Given the description of an element on the screen output the (x, y) to click on. 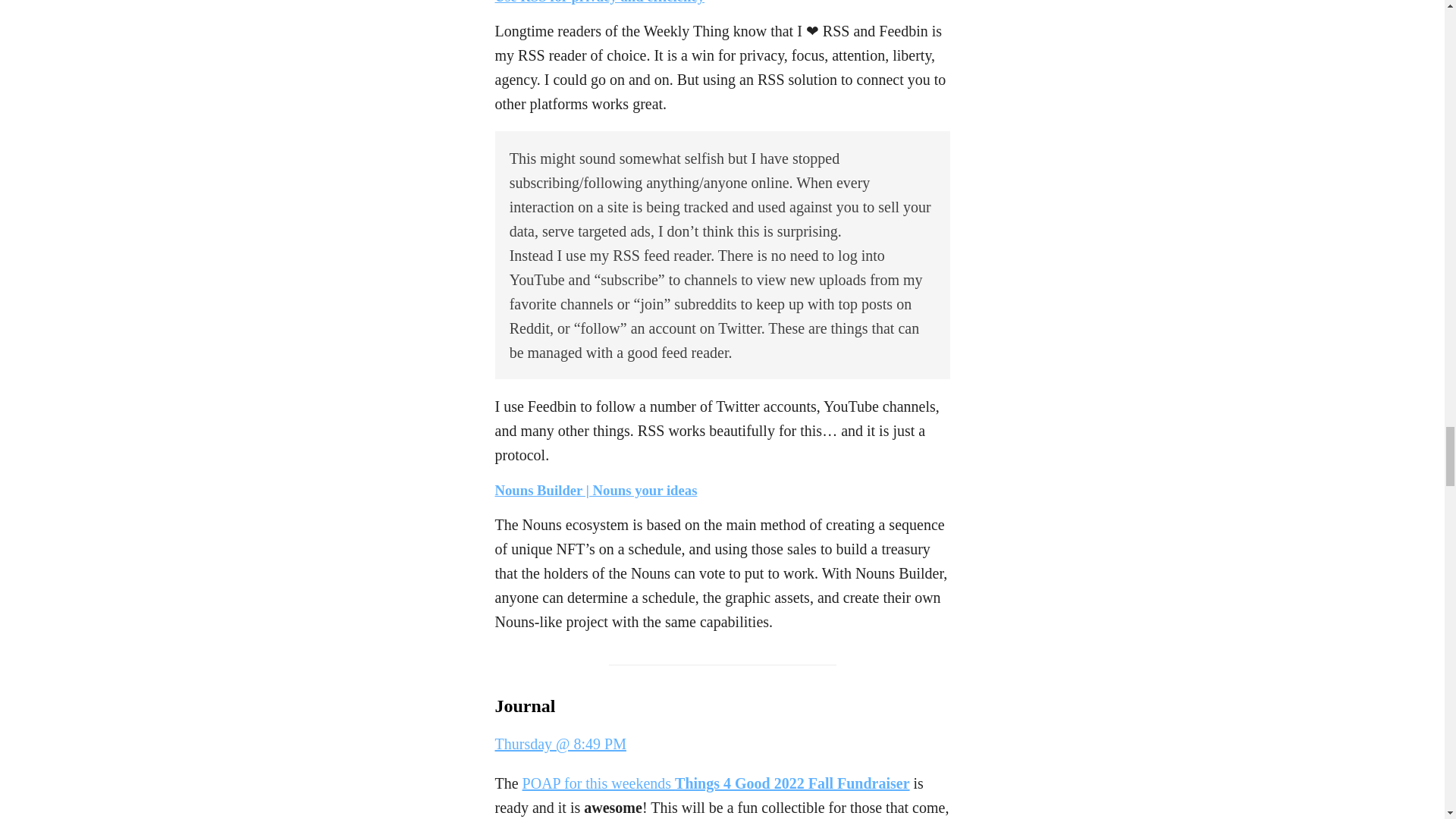
POAP for this weekends Things 4 Good 2022 Fall Fundraiser (716, 782)
Use RSS for privacy and efficiency (599, 2)
